Given the description of an element on the screen output the (x, y) to click on. 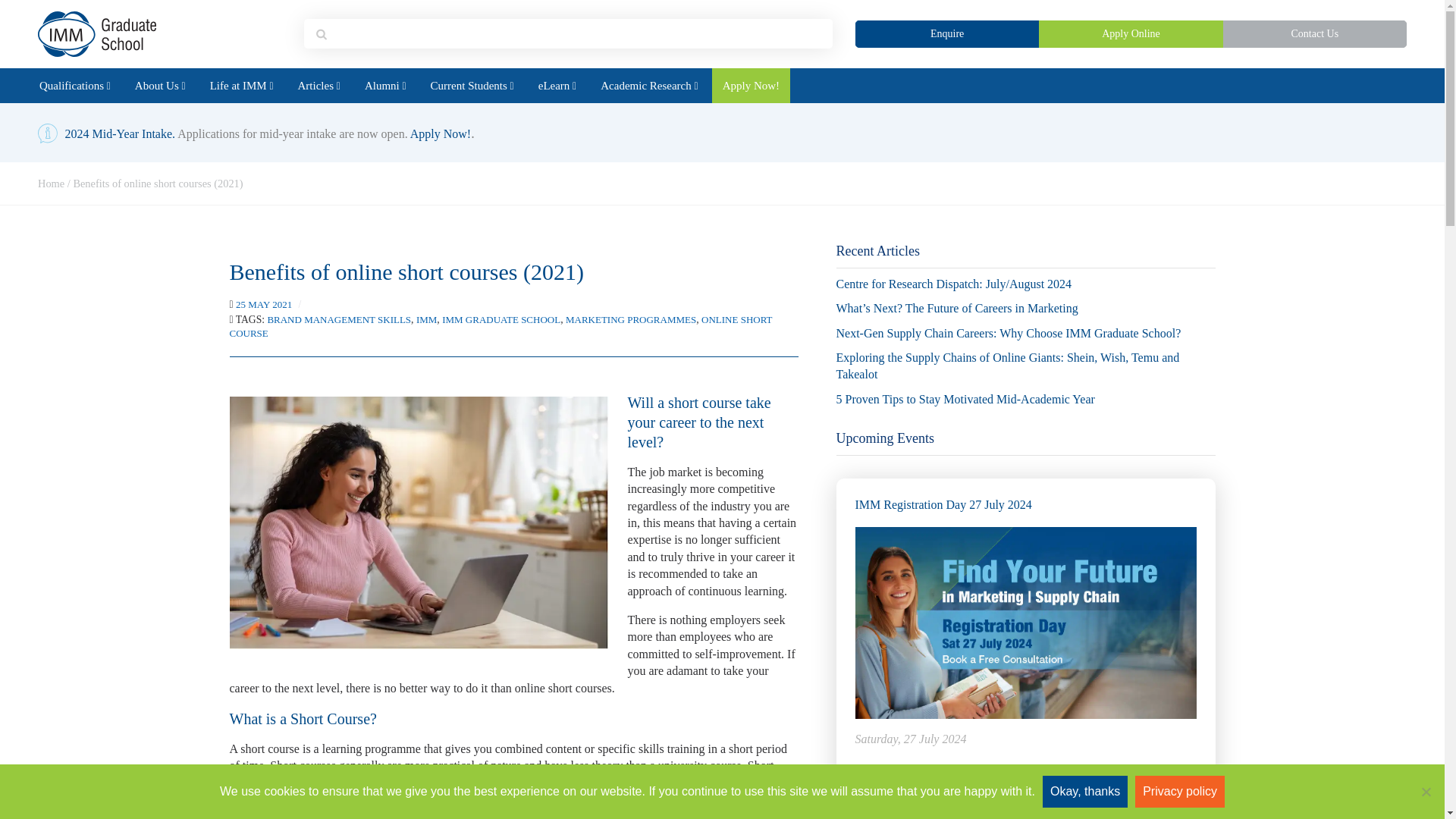
No (1425, 791)
Search (56, 19)
brand management skills (338, 319)
Life at IMM (241, 85)
imm (426, 319)
imm graduate school (501, 319)
Contact Us (1314, 34)
Coronavirus and the end of global supply chains (418, 522)
marketing programmes (630, 319)
Apply Online (1131, 34)
Search for: (579, 33)
Qualifications (74, 85)
About Us (159, 85)
Enquire (947, 34)
online short course (499, 326)
